Given the description of an element on the screen output the (x, y) to click on. 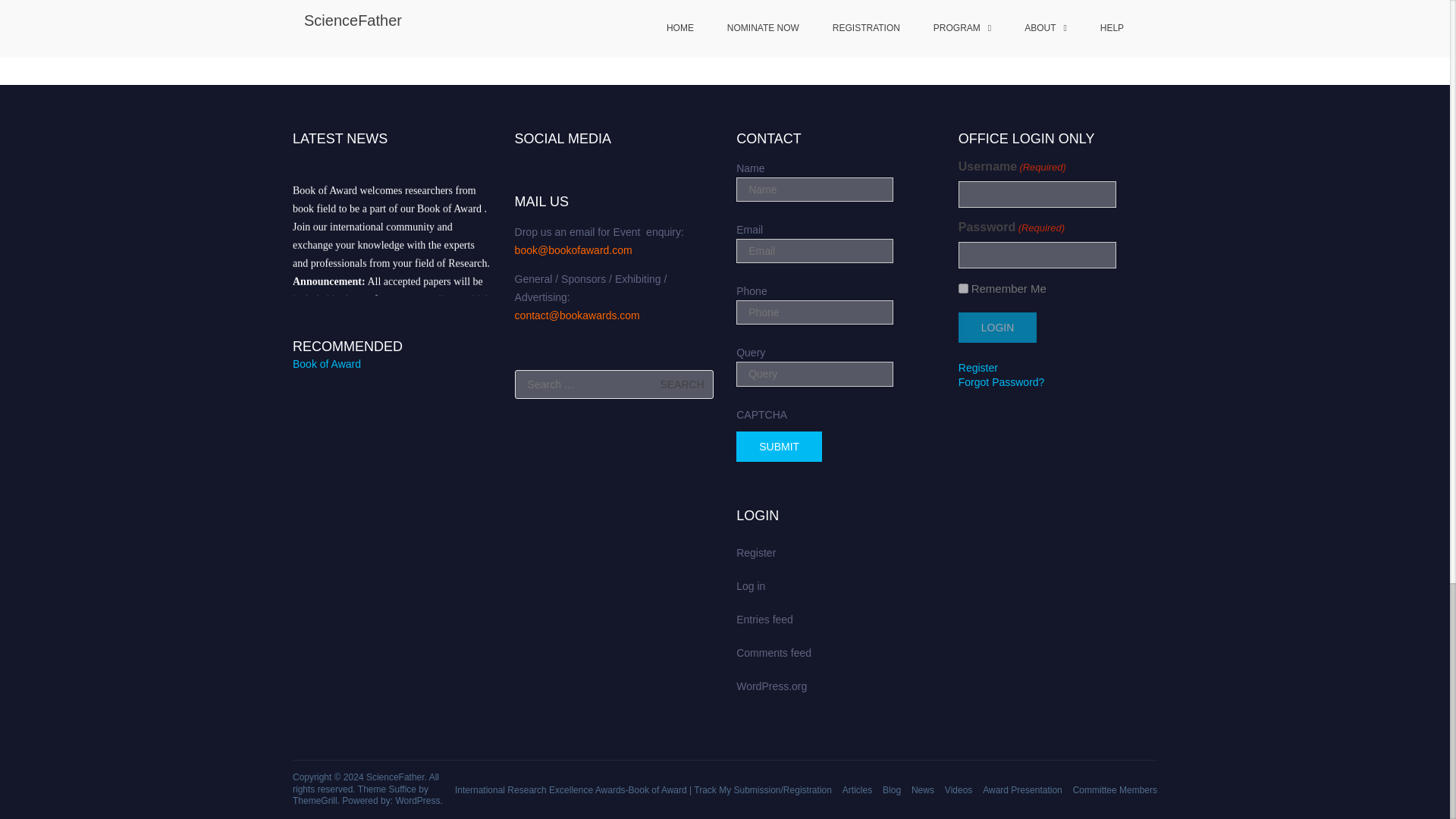
ScienceFather (395, 777)
Register (977, 367)
WordPress (416, 800)
Login (997, 327)
Suffice (401, 788)
Submit (779, 446)
Search (681, 384)
Forgot Password? (1001, 381)
Search (681, 384)
1 (963, 288)
